Given the description of an element on the screen output the (x, y) to click on. 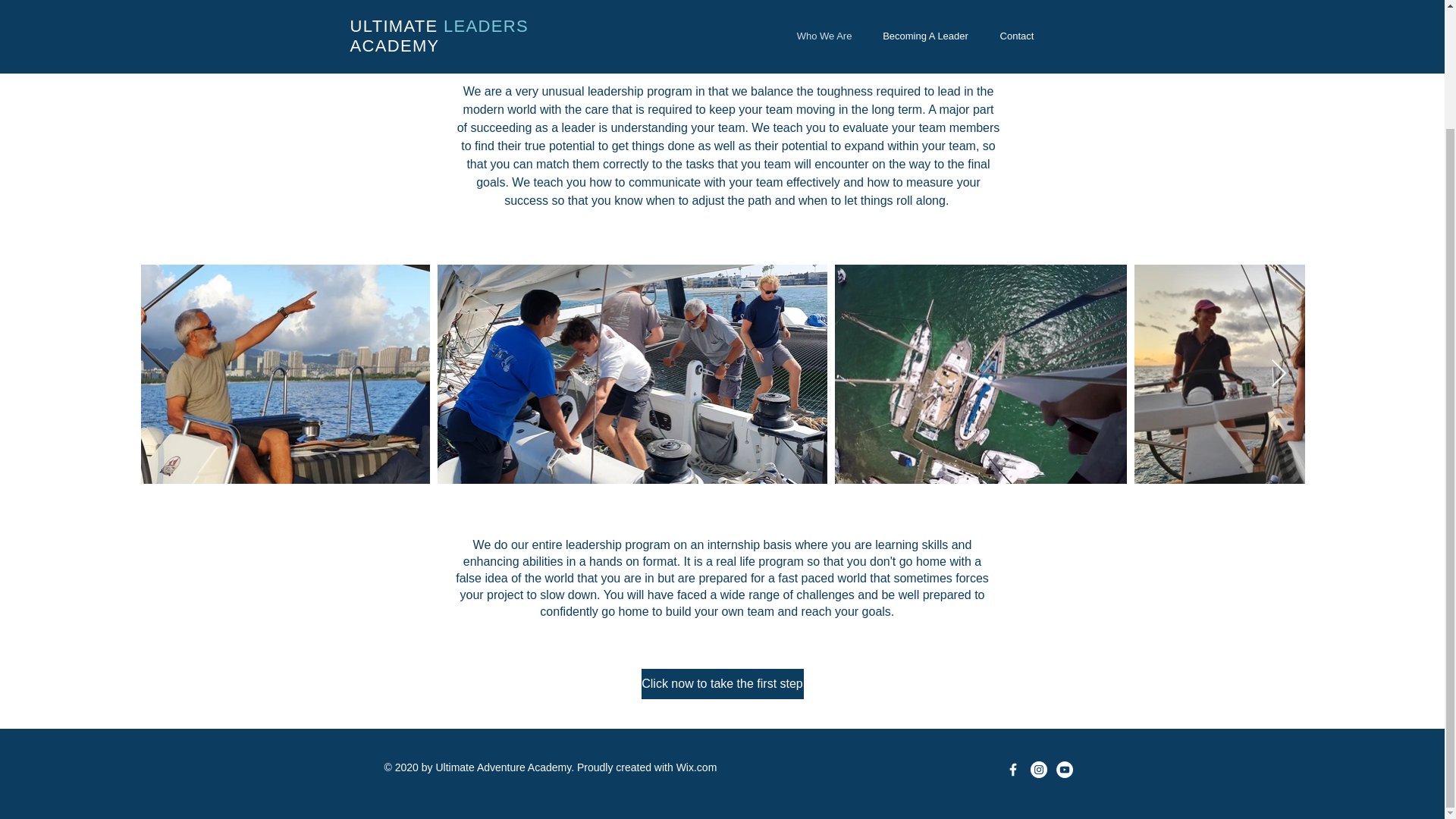
Click now to take the first step (722, 684)
Wix.com (697, 767)
